Given the description of an element on the screen output the (x, y) to click on. 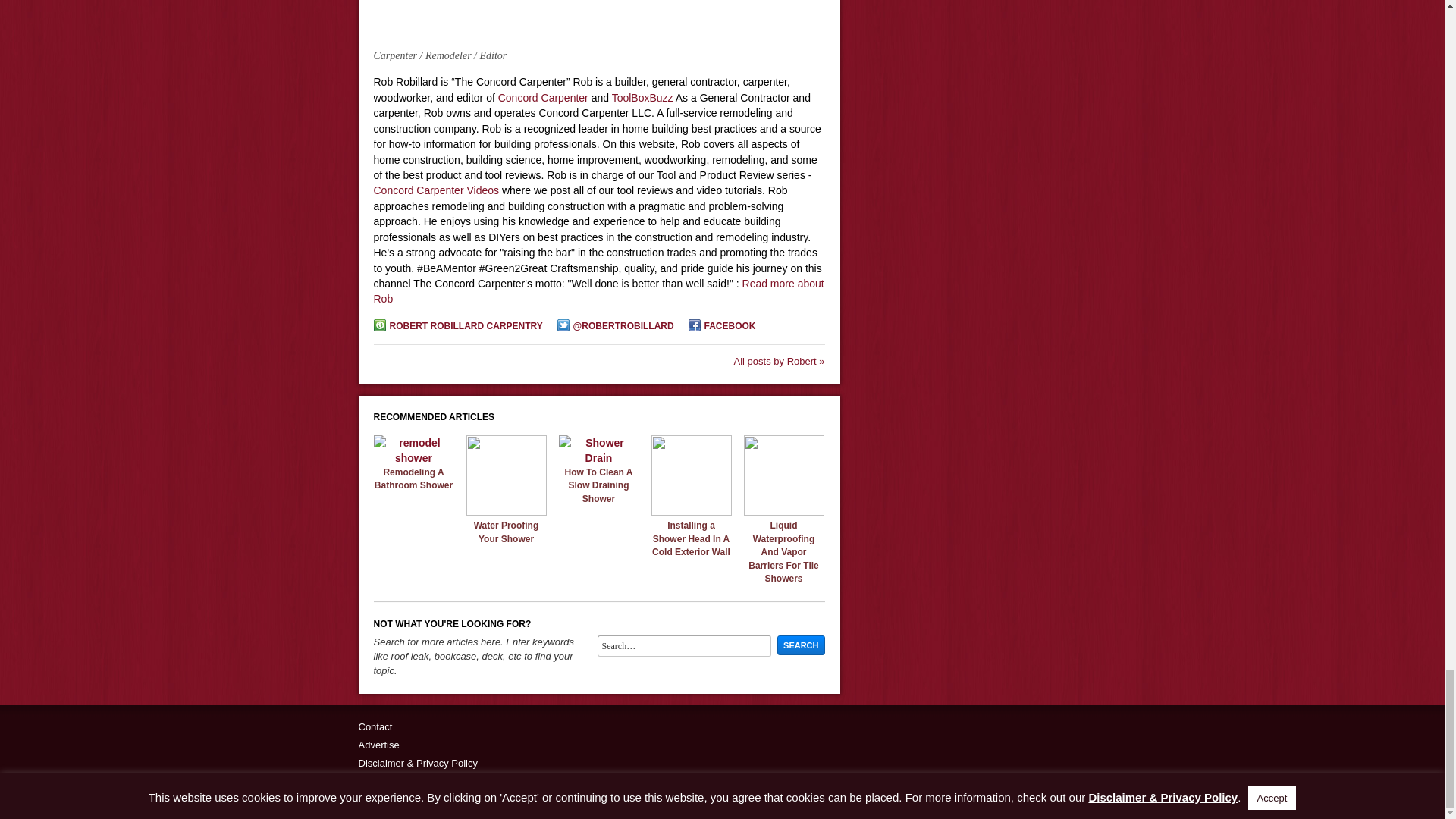
Concord Carpenter (542, 97)
ROBERT ROBILLARD CARPENTRY (456, 326)
Search (800, 645)
Remodeling A Bathroom Shower (412, 458)
How To Clean A Slow Draining Shower (598, 458)
Concord Carpenter Videos (435, 190)
Installing a Shower Head In A Cold Exterior Wall (690, 511)
Remodeling A Bathroom Shower (413, 478)
Read more about Rob (598, 290)
FACEBOOK (721, 326)
ToolBoxBuzz (641, 97)
Liquid Waterproofing And Vapor Barriers For Tile Showers (783, 511)
Water Proofing Your Shower (505, 511)
